Given the description of an element on the screen output the (x, y) to click on. 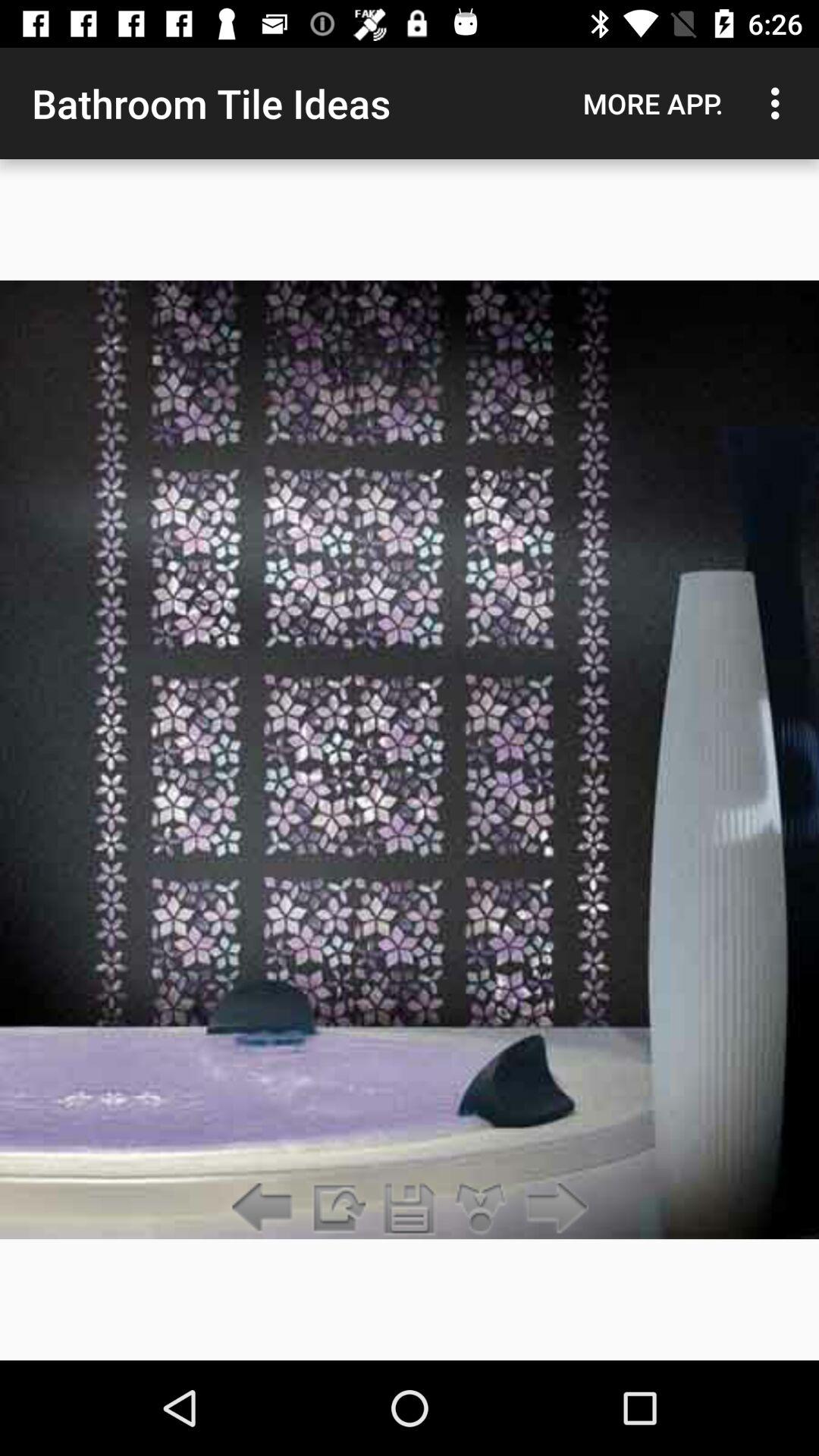
previous page (266, 1209)
